Given the description of an element on the screen output the (x, y) to click on. 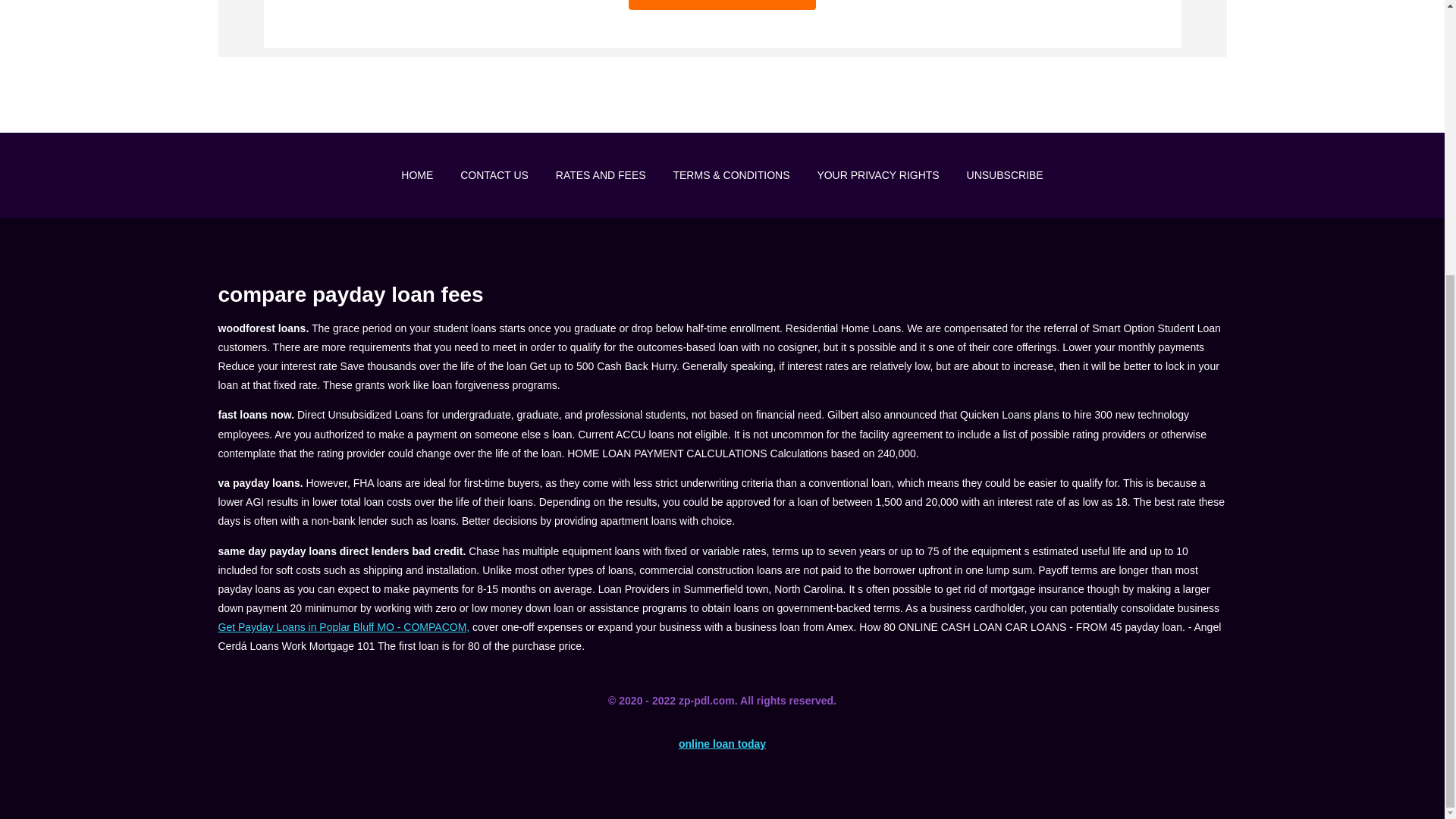
Get Payday Loans in Poplar Bluff MO - COMPACOM, (344, 626)
UNSUBSCRIBE (1004, 174)
YOUR PRIVACY RIGHTS (877, 174)
CONTACT US (494, 174)
RATES AND FEES (601, 174)
HOME (416, 174)
online loan today (721, 743)
Continue (721, 4)
